Given the description of an element on the screen output the (x, y) to click on. 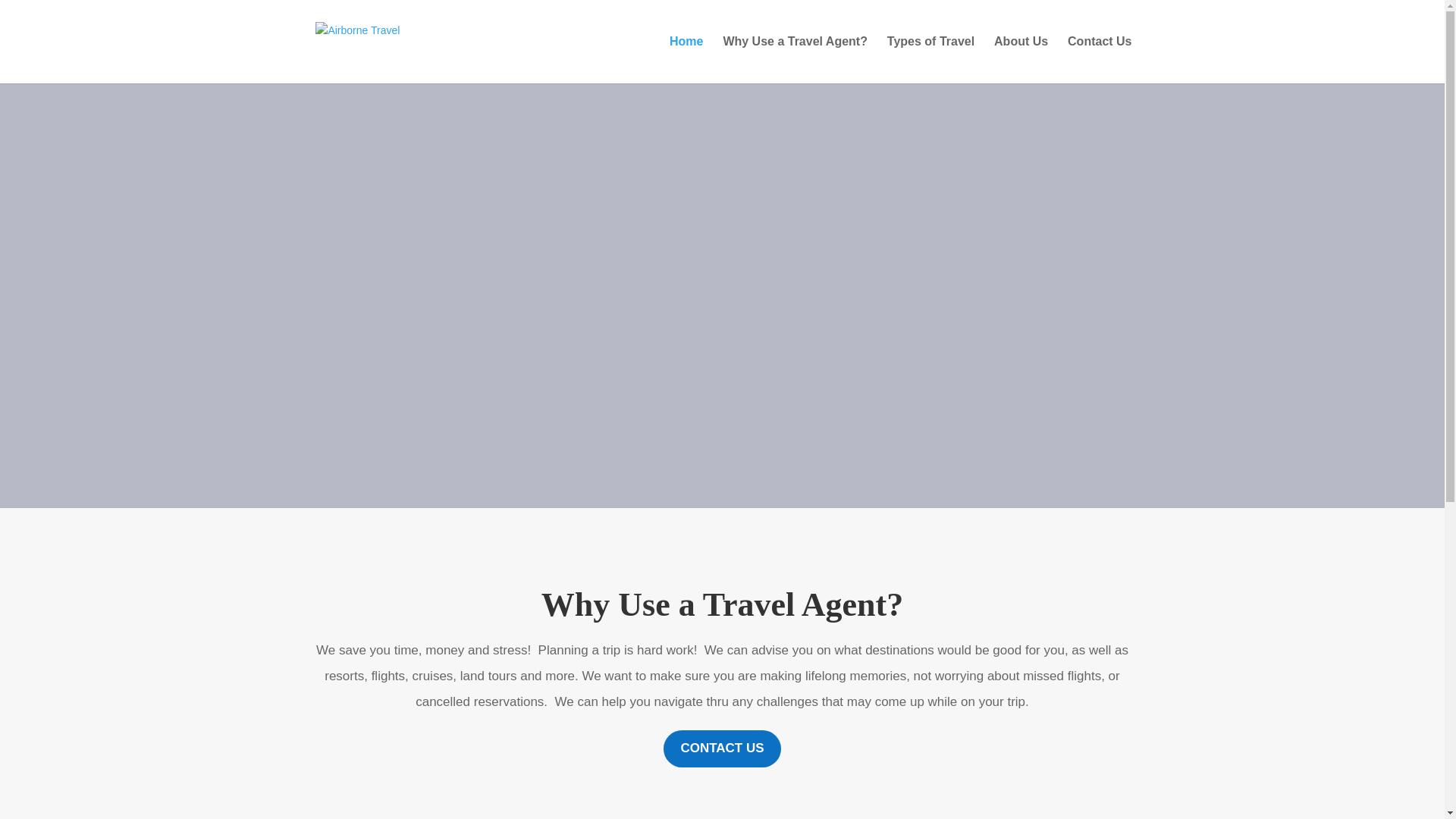
About Us (1021, 59)
CONTACT US (721, 748)
Why Use a Travel Agent? (794, 59)
Contact Us (1099, 59)
Types of Travel (930, 59)
